Given the description of an element on the screen output the (x, y) to click on. 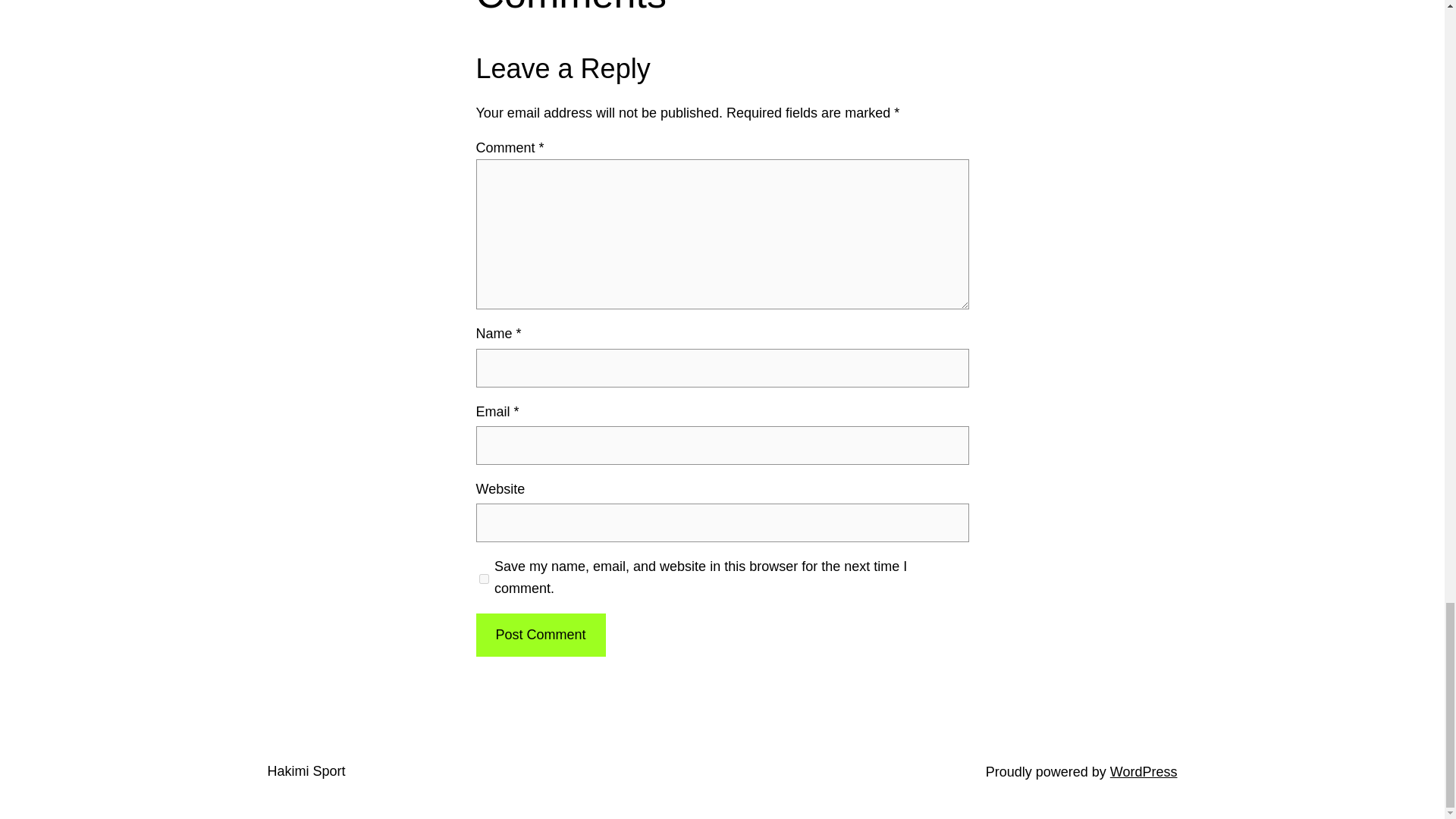
Post Comment (540, 634)
Post Comment (540, 634)
WordPress (1143, 771)
Hakimi Sport (305, 770)
